Given the description of an element on the screen output the (x, y) to click on. 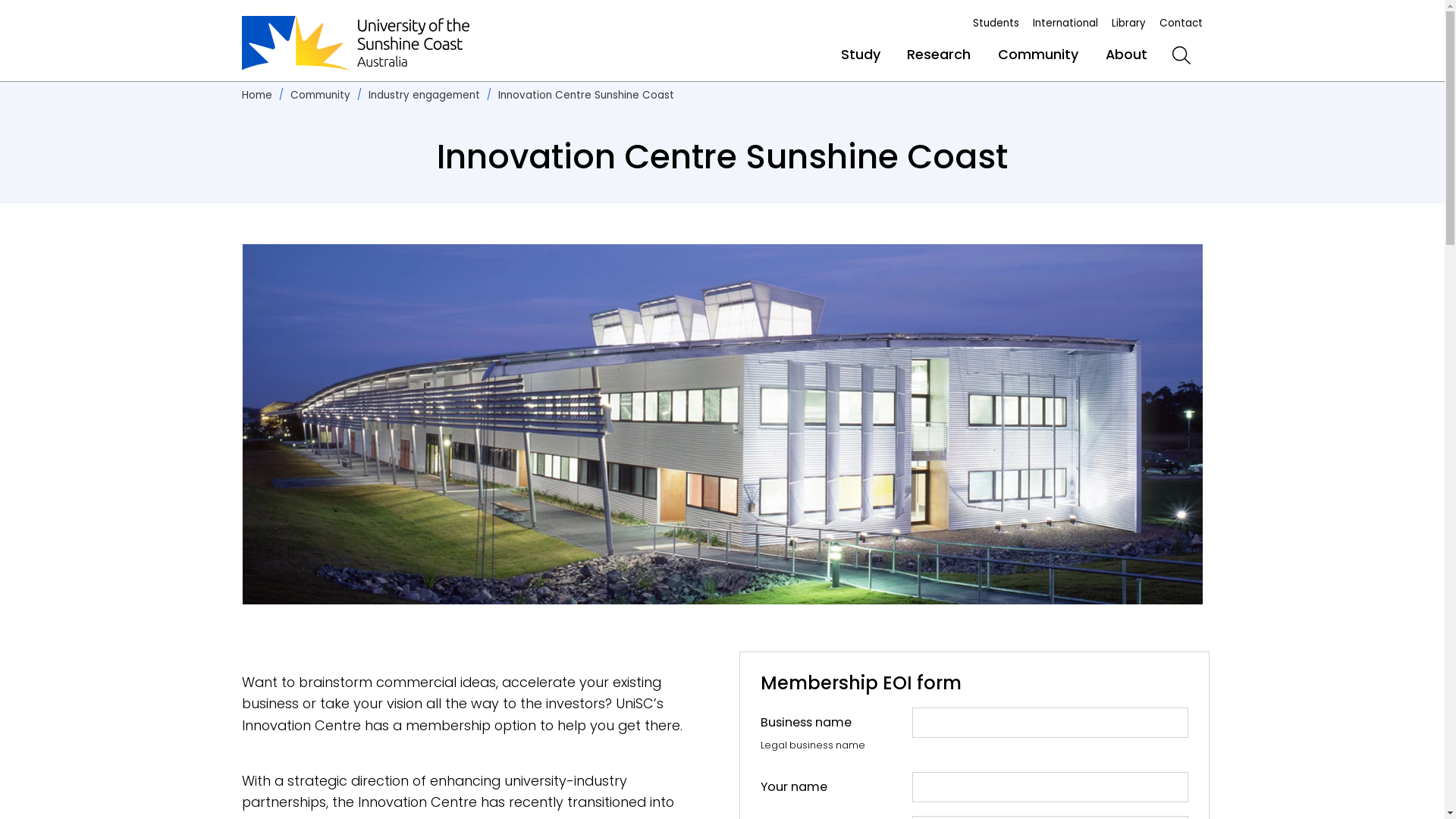
International Element type: text (1065, 22)
Home Element type: text (256, 94)
Students Element type: text (995, 22)
Search Element type: text (1181, 54)
Community Element type: text (1038, 54)
Research Element type: text (938, 54)
Contact Element type: text (1180, 22)
About Element type: text (1126, 54)
Community Element type: text (320, 94)
Innovation Centre Sunshine Coast Element type: text (586, 94)
Library Element type: text (1128, 22)
Industry engagement Element type: text (424, 94)
Study Element type: text (860, 54)
